Given the description of an element on the screen output the (x, y) to click on. 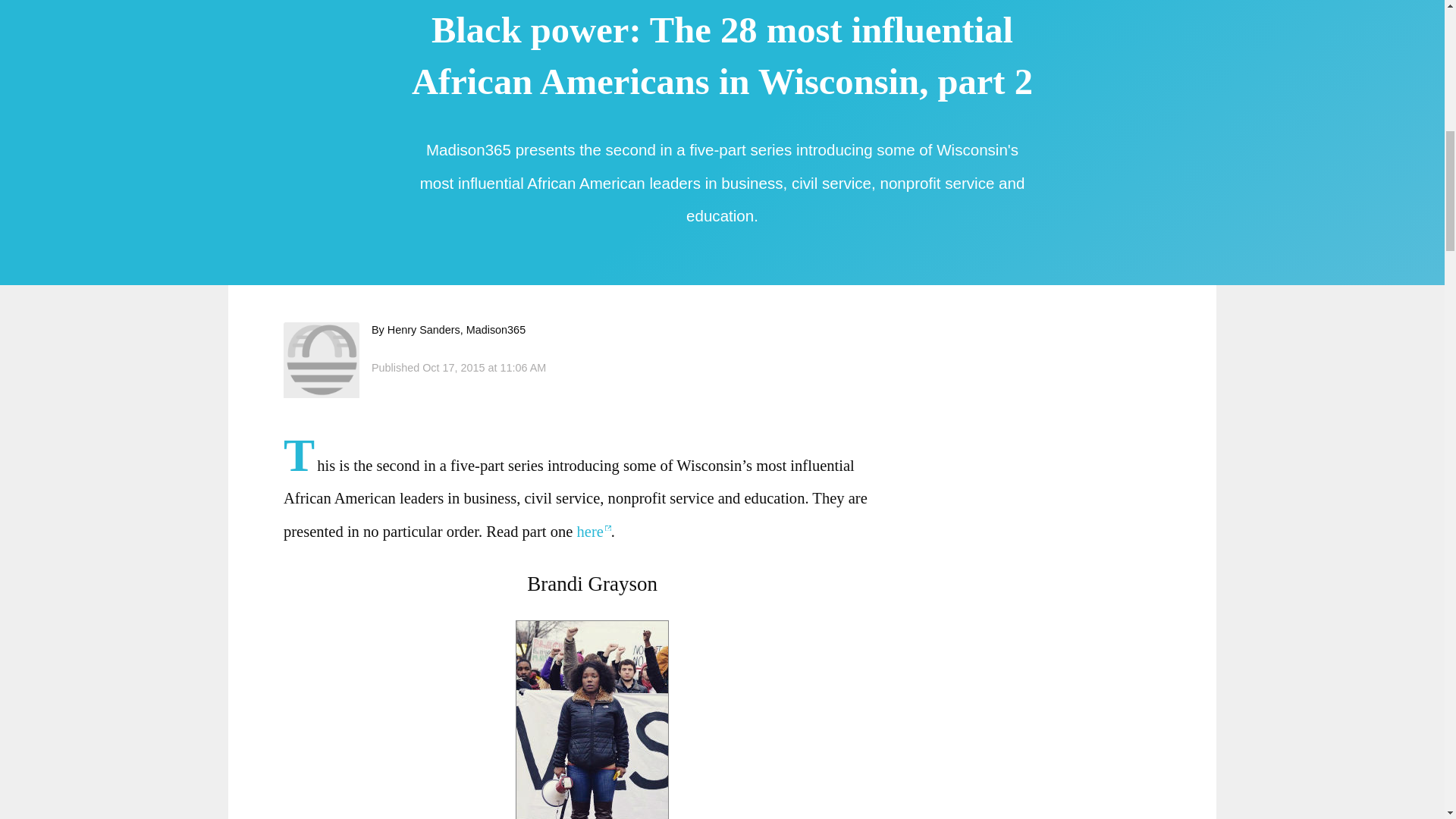
Henry Sanders, Madison365 (321, 360)
here (593, 531)
